Given the description of an element on the screen output the (x, y) to click on. 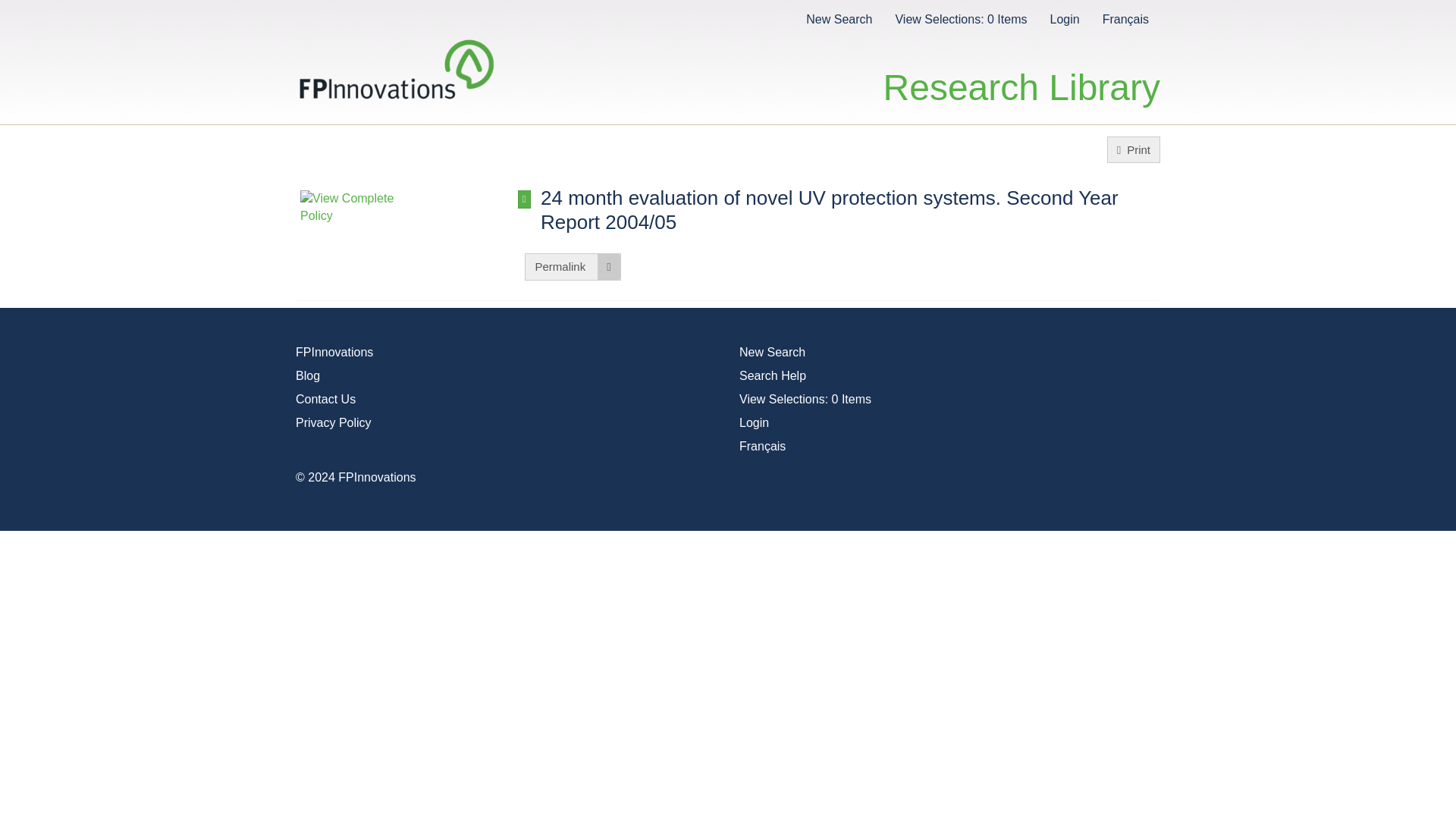
Blog (307, 375)
Permalink (572, 266)
Toggle Full Record (524, 199)
Permalink (572, 266)
View Selections: 0 Items (804, 399)
Contact Us (325, 399)
Search Help (772, 375)
New Search (772, 351)
Privacy Policy (333, 422)
Login (753, 422)
Toggle Full Record (849, 209)
Research Library (1021, 71)
View Selections: 0 Items (960, 18)
New Search (838, 18)
Login (1064, 18)
